Given the description of an element on the screen output the (x, y) to click on. 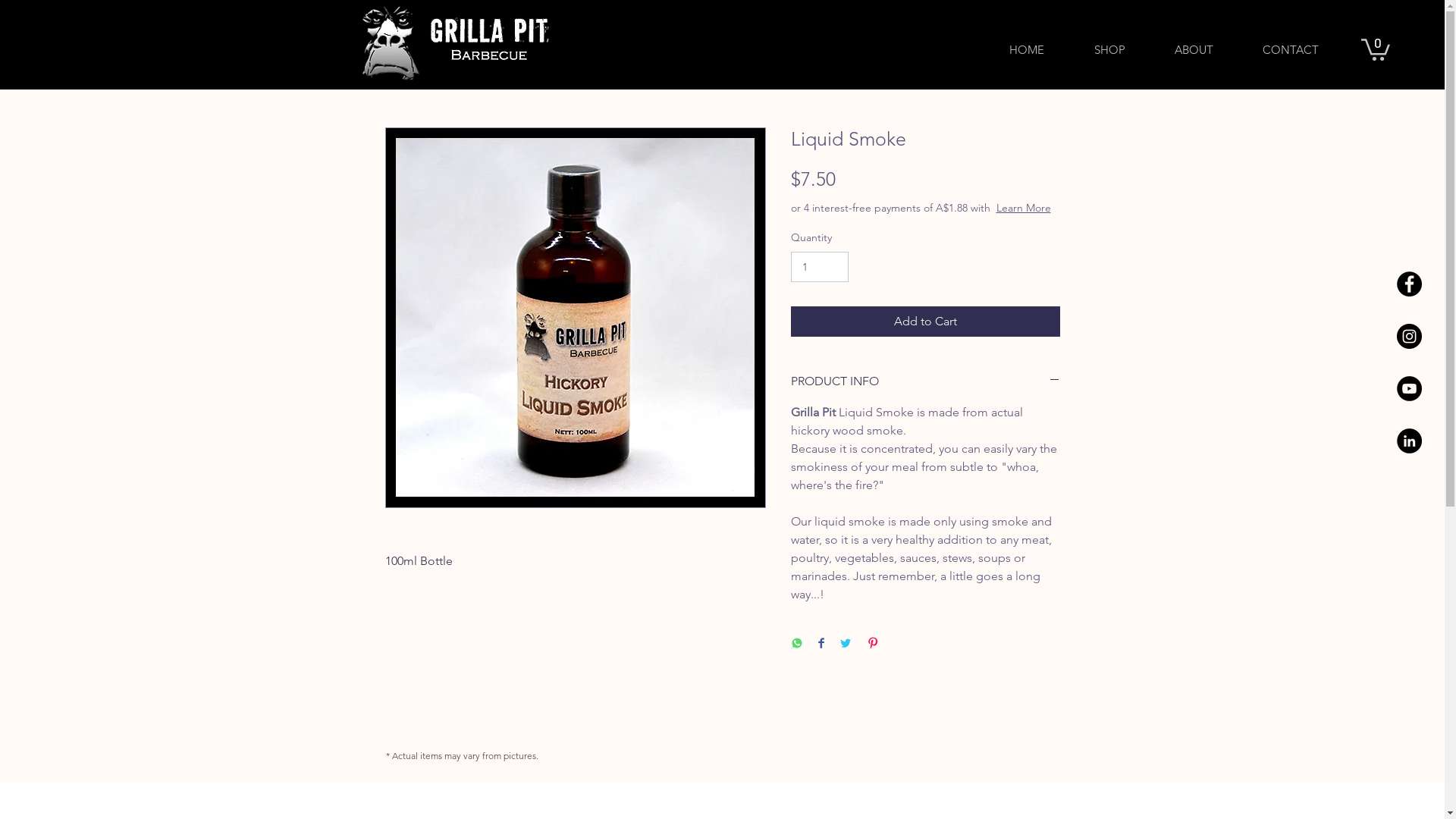
PRODUCT INFO Element type: text (924, 381)
ABOUT Element type: text (1193, 48)
Learn More Element type: text (1023, 207)
Add to Cart Element type: text (924, 321)
Site Search Element type: hover (721, 50)
HOME Element type: text (1026, 48)
0 Element type: text (1375, 48)
SHOP Element type: text (1109, 48)
CONTACT Element type: text (1290, 48)
